Given the description of an element on the screen output the (x, y) to click on. 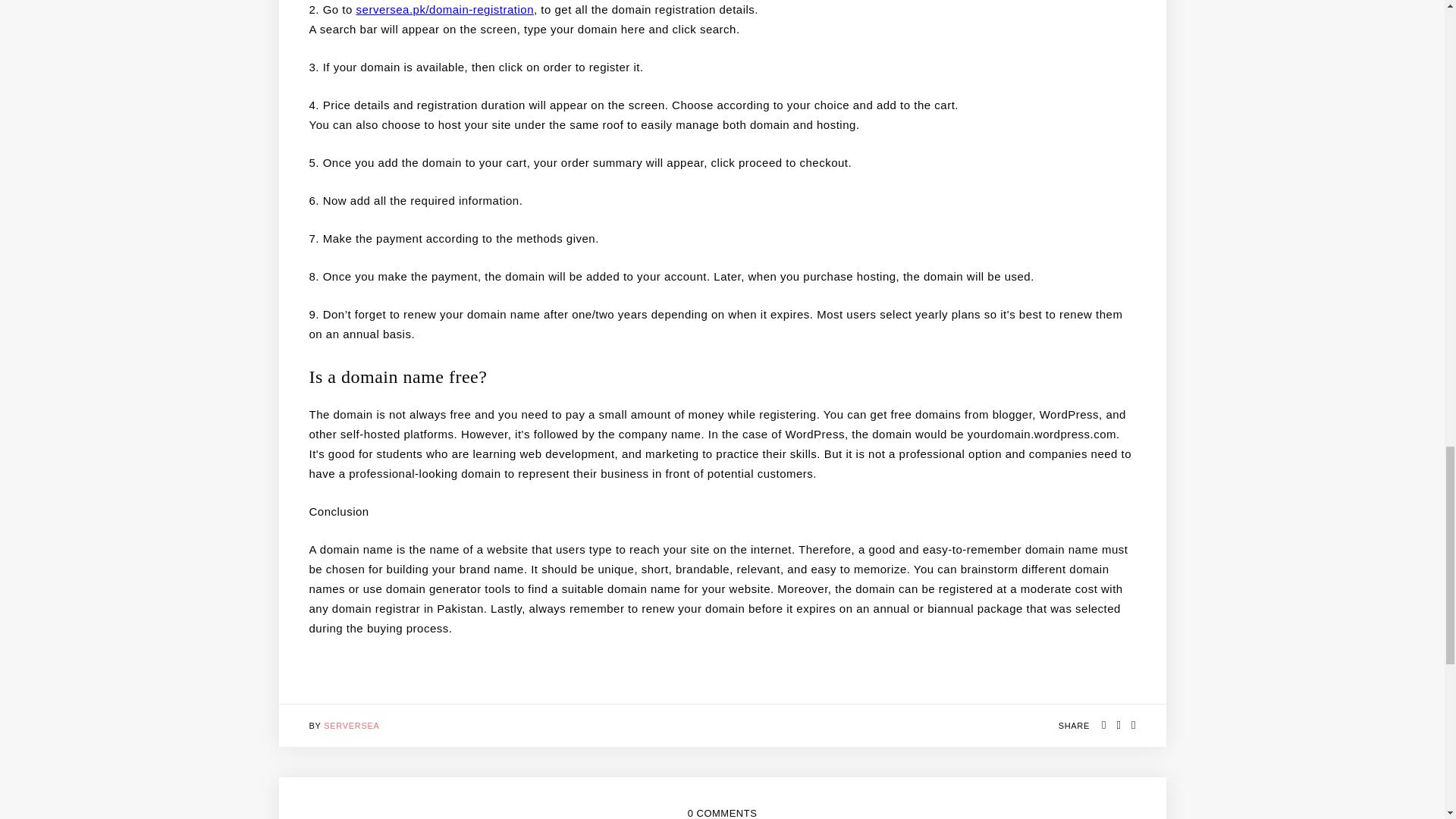
SERVERSEA (350, 725)
